Given the description of an element on the screen output the (x, y) to click on. 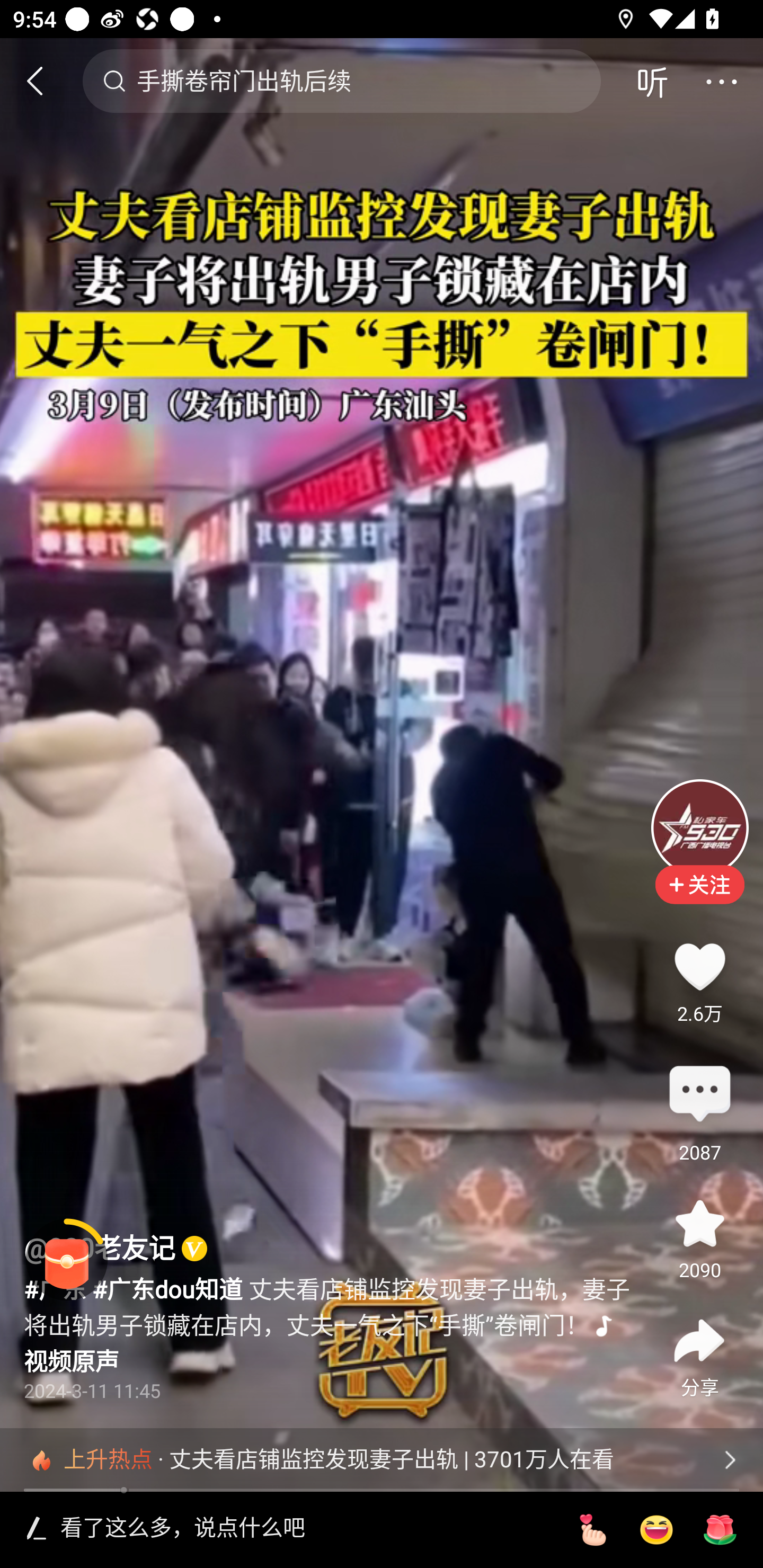
手撕卷帘门出轨后续 搜索框，手撕卷帘门出轨后续 (341, 80)
返回 (43, 80)
音频 (651, 80)
更多操作 (720, 80)
头像 (699, 827)
加关注 (699, 897)
点赞26577 2.6万 (699, 966)
评论2087 评论 2087 (699, 1095)
收藏 2090 (699, 1223)
阅读赚金币 (66, 1259)
分享 (699, 1341)
上升热点  · 丈夫看店铺监控发现妻子出轨  | 3701万人在看 (381, 1459)
看了这么多，说点什么吧 (305, 1529)
[比心] (592, 1530)
[大笑] (656, 1530)
[玫瑰] (719, 1530)
